Given the description of an element on the screen output the (x, y) to click on. 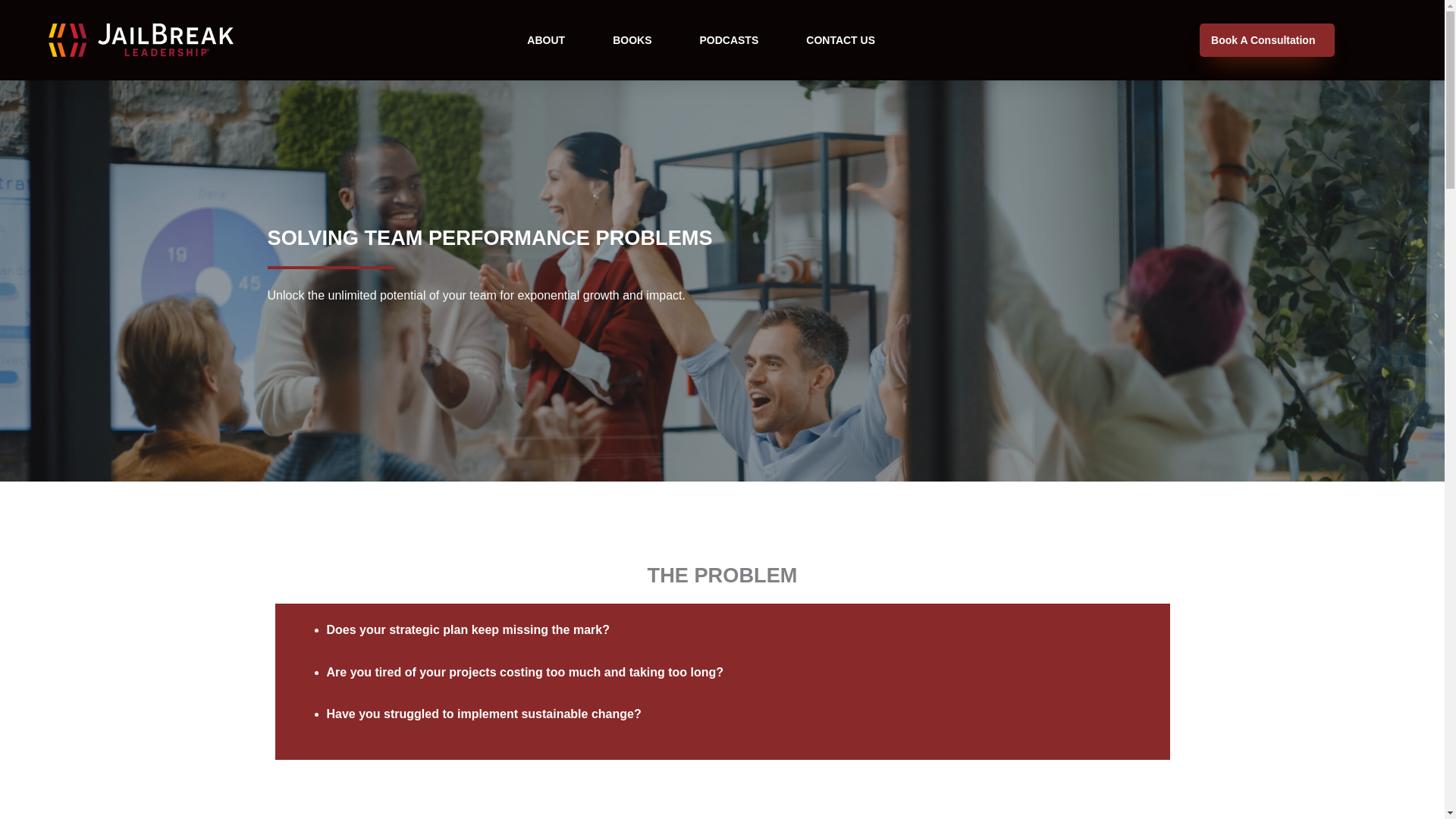
BOOKS (631, 39)
Book A Consultation (1267, 39)
CONTACT US (840, 39)
ABOUT (545, 39)
PODCASTS (728, 39)
